Given the description of an element on the screen output the (x, y) to click on. 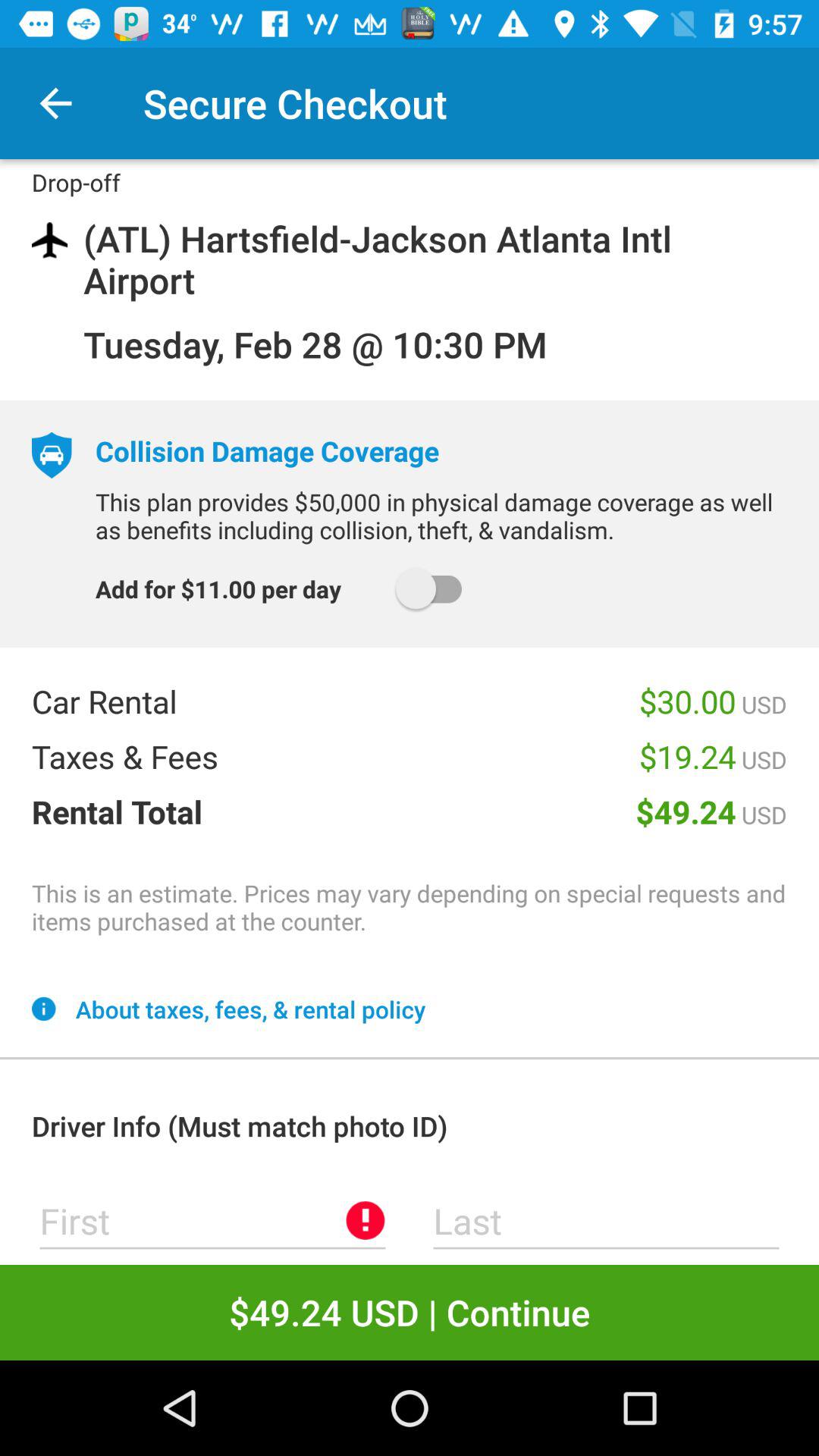
enter last name (606, 1220)
